Given the description of an element on the screen output the (x, y) to click on. 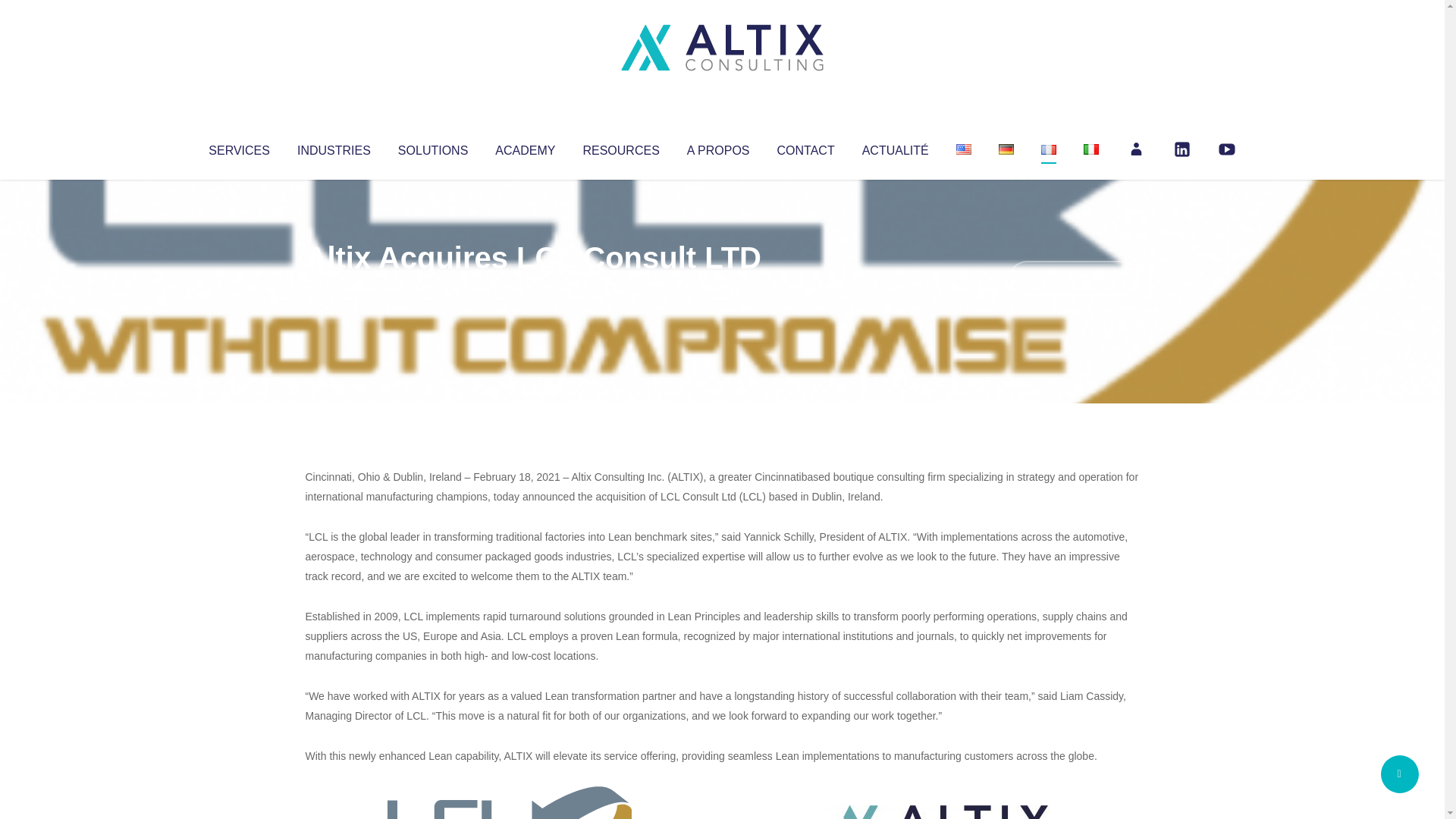
SOLUTIONS (432, 146)
RESOURCES (620, 146)
A PROPOS (718, 146)
No Comments (1073, 278)
ACADEMY (524, 146)
Articles par Altix (333, 287)
INDUSTRIES (334, 146)
SERVICES (238, 146)
Altix (333, 287)
Uncategorized (530, 287)
